Given the description of an element on the screen output the (x, y) to click on. 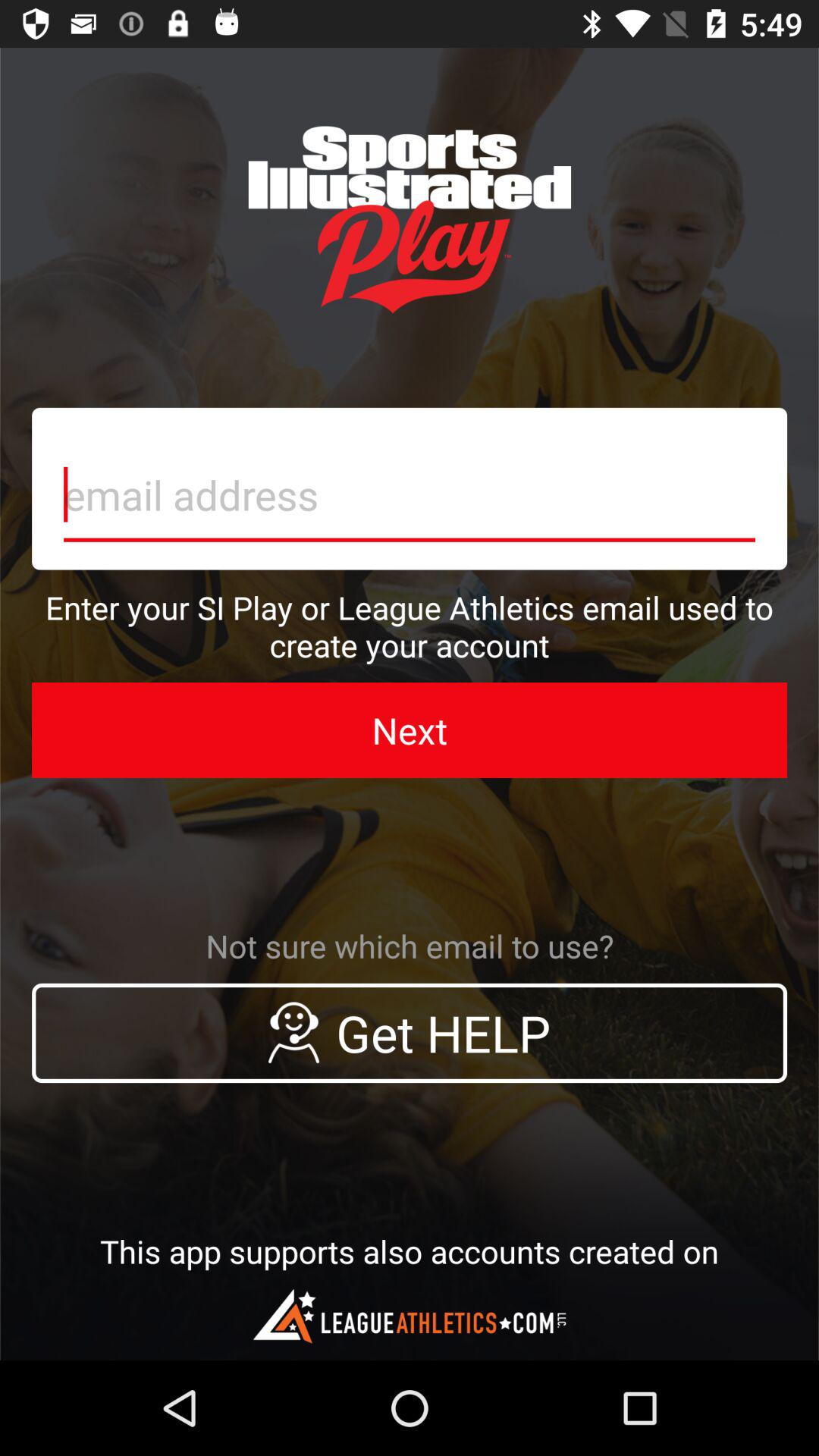
typer your email adress (409, 488)
